Given the description of an element on the screen output the (x, y) to click on. 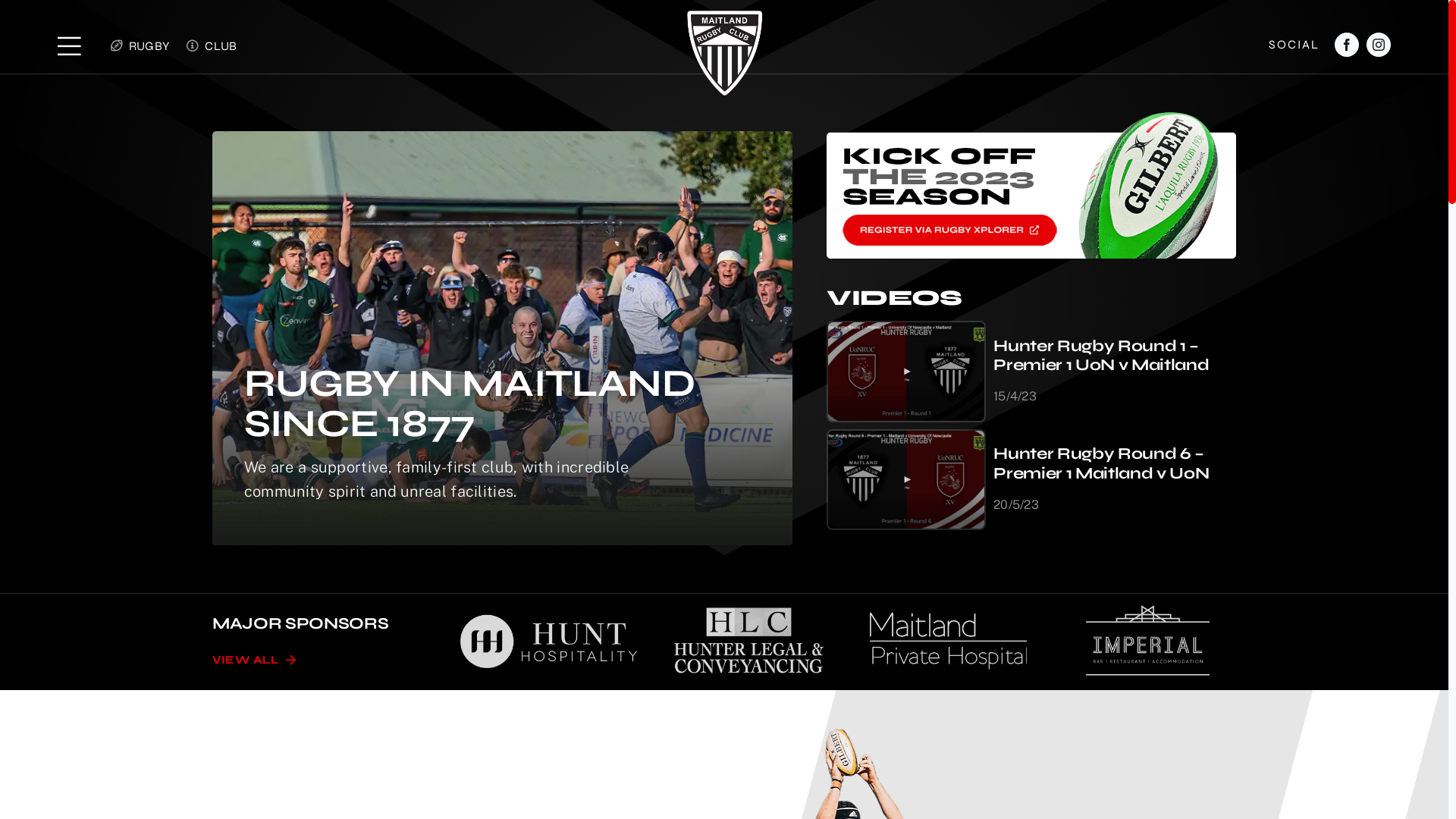
CLUB Element type: text (208, 46)
RUGBY Element type: text (136, 46)
VIEW ALL Element type: text (254, 660)
uonruc maitland Element type: hover (906, 371)
maitland uonruc Element type: hover (906, 479)
MAJOR SPONSORS Element type: text (300, 623)
